Given the description of an element on the screen output the (x, y) to click on. 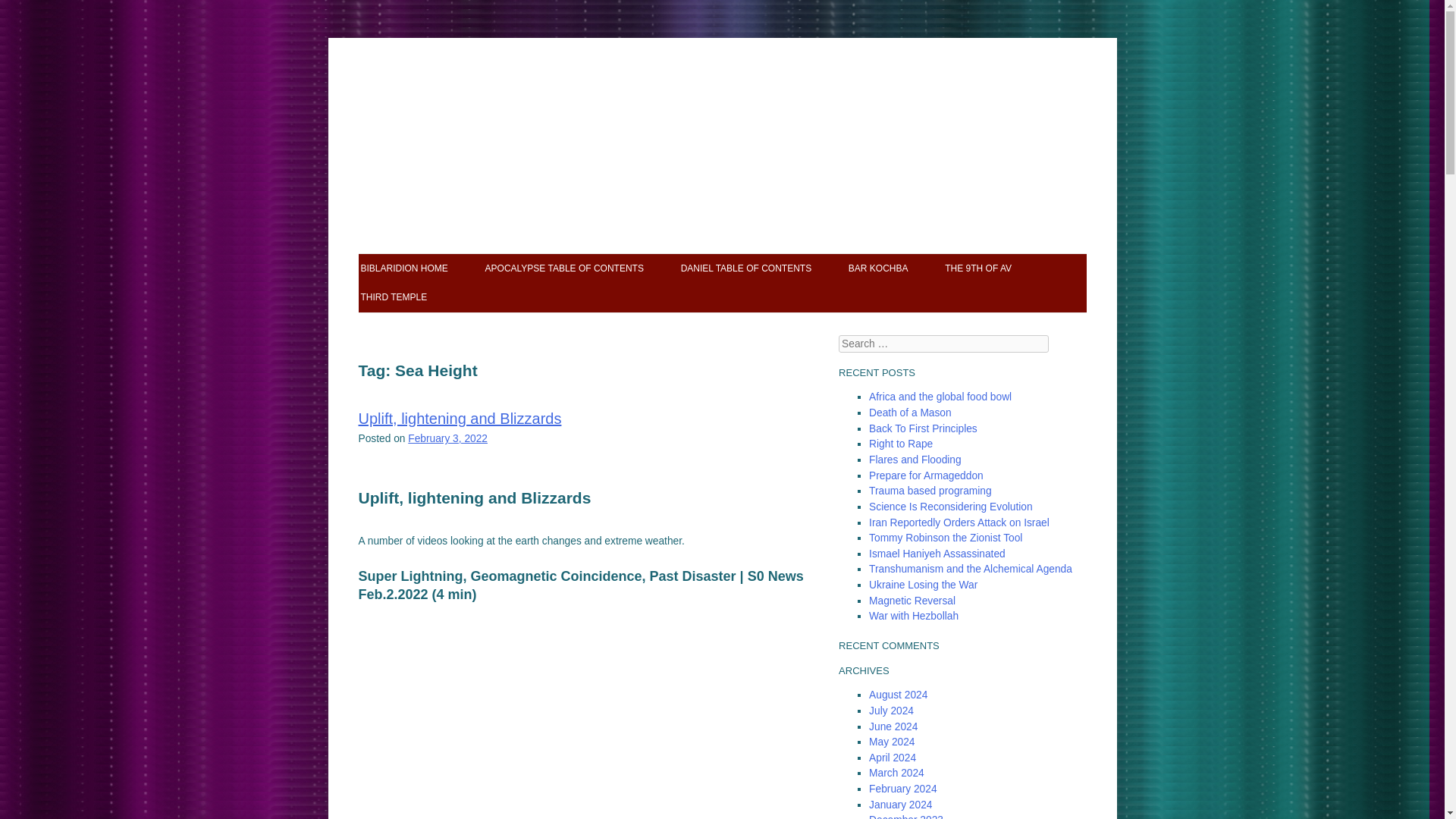
February 3, 2022 (447, 438)
BIBLARIDION HOME (404, 267)
BAR KOCHBA (878, 267)
DANIEL TABLE OF CONTENTS (745, 267)
Search (38, 15)
The Apocalypse and Daniel (721, 112)
The Apocalypse and Daniel (721, 112)
Africa and the global food bowl (940, 396)
Uplift, lightening and Blizzards (459, 418)
